Given the description of an element on the screen output the (x, y) to click on. 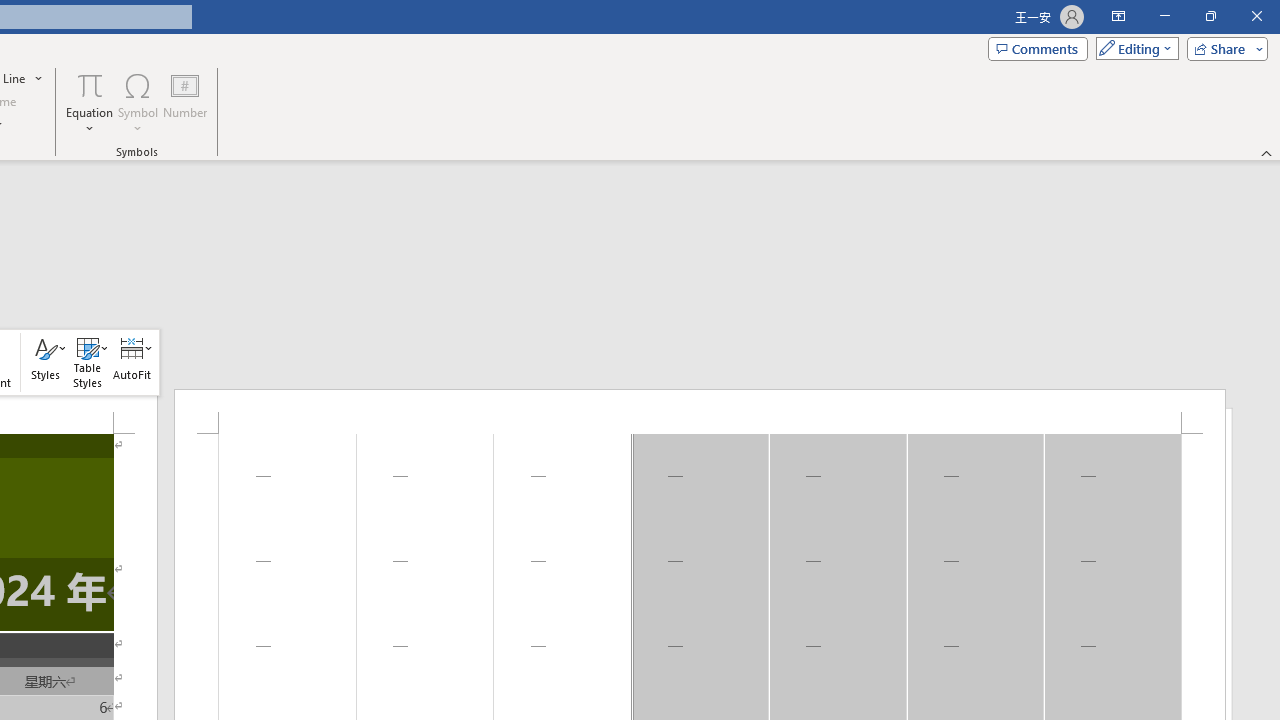
Header -Section 1- (700, 411)
Table Styles (87, 361)
Class: NetUIAnchor (132, 361)
